Given the description of an element on the screen output the (x, y) to click on. 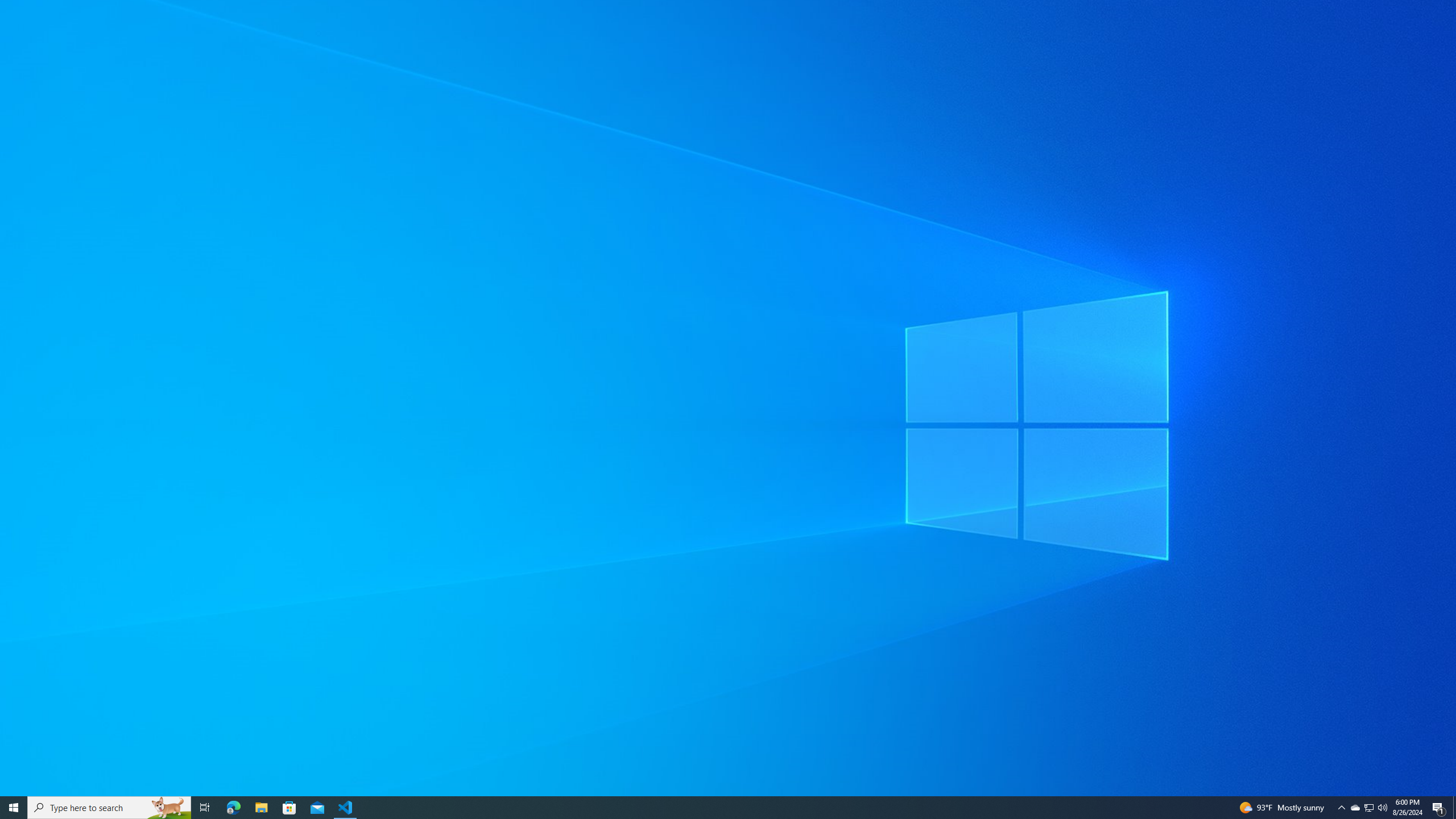
Visual Studio Code - 1 running window (345, 807)
Action Center, 1 new notification (1439, 807)
Notification Chevron (1341, 807)
Microsoft Store (1368, 807)
Running applications (289, 807)
Search highlights icon opens search home window (717, 807)
Type here to search (167, 807)
Start (1355, 807)
Task View (108, 807)
Show desktop (13, 807)
